Given the description of an element on the screen output the (x, y) to click on. 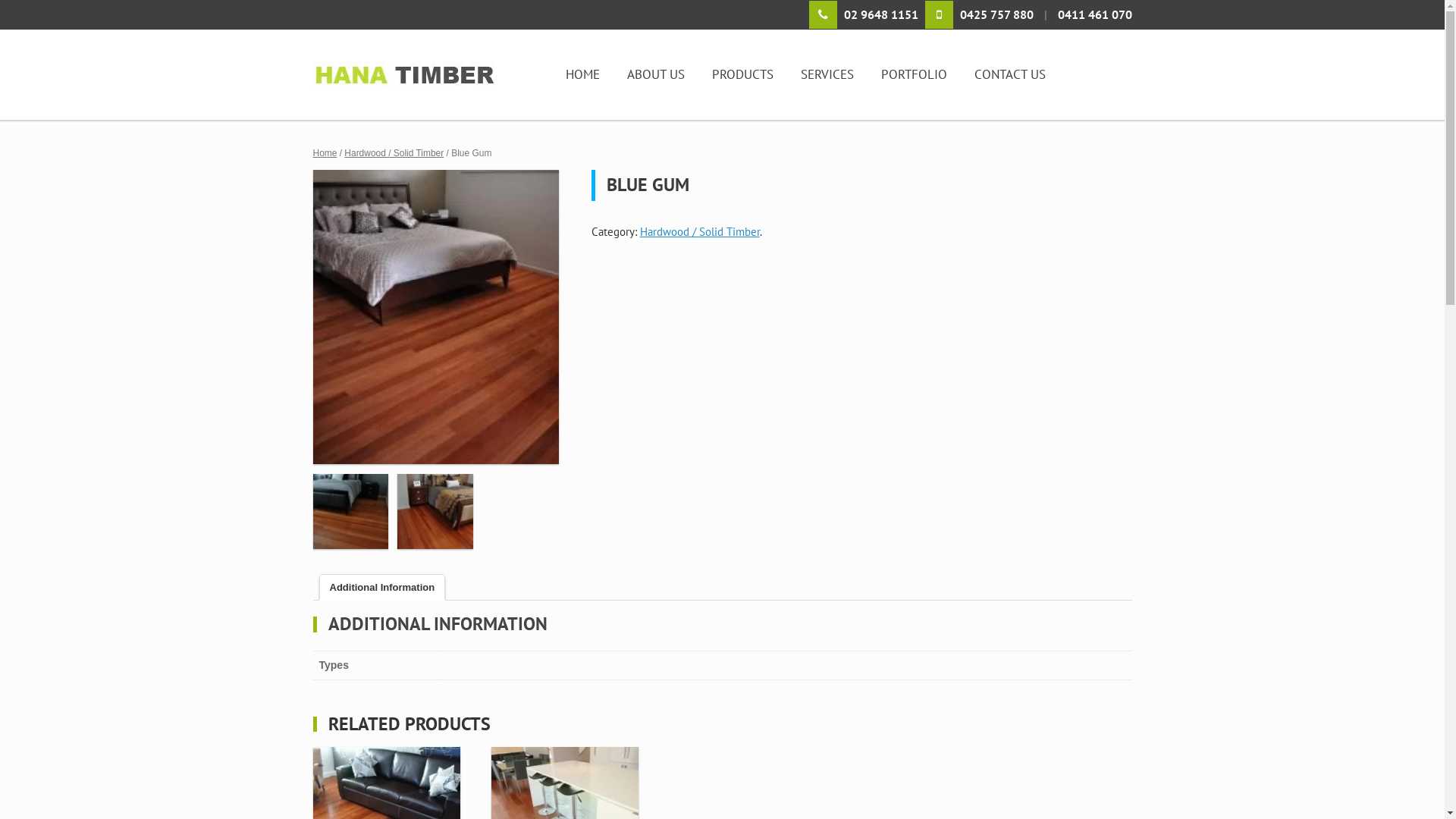
Hardwood / Solid Timber Element type: text (699, 231)
bluegum01 Element type: hover (435, 316)
HOME Element type: text (582, 74)
CONTACT US Element type: text (1009, 74)
Home Element type: text (324, 152)
SERVICES Element type: text (827, 74)
Hana Timber Element type: hover (425, 73)
bluegum02 Element type: hover (435, 514)
PORTFOLIO Element type: text (913, 74)
PRODUCTS Element type: text (741, 74)
Additional Information Element type: text (381, 586)
bluegum03 Element type: hover (350, 514)
ABOUT US Element type: text (654, 74)
Hardwood / Solid Timber Element type: text (393, 152)
